Given the description of an element on the screen output the (x, y) to click on. 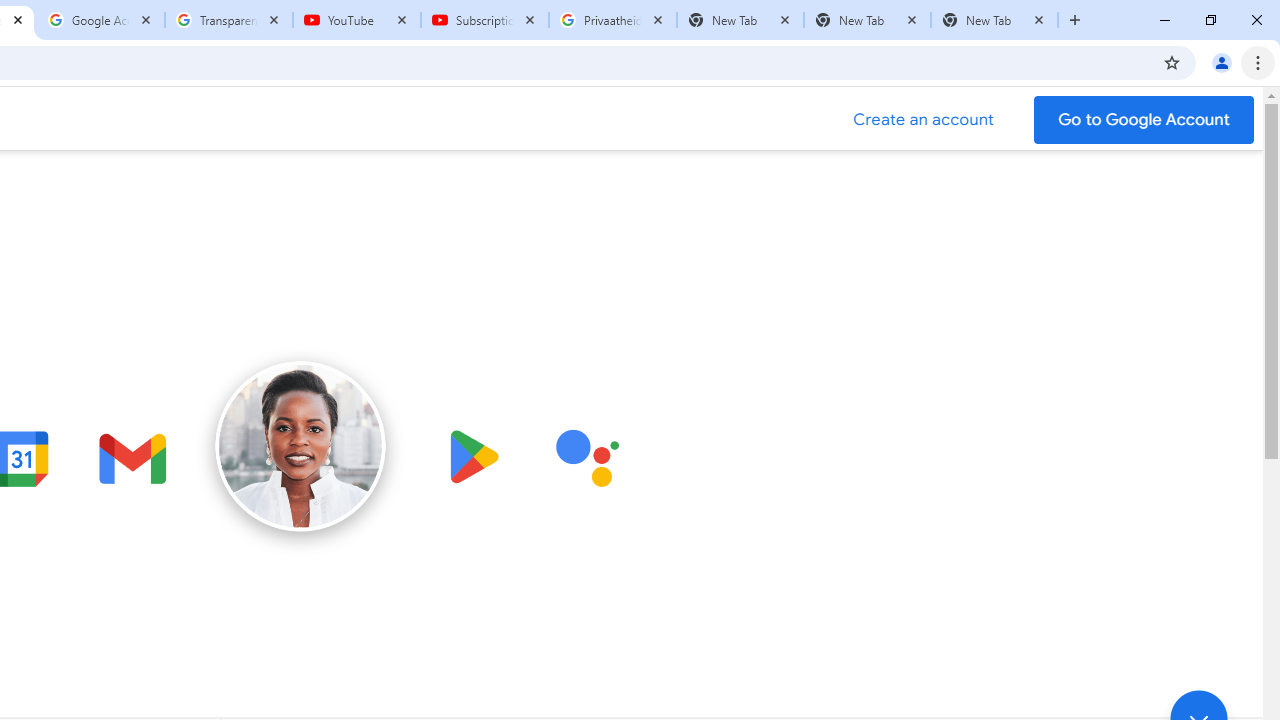
New Tab (994, 20)
YouTube (357, 20)
Go to your Google Account (1144, 119)
Google Account (101, 20)
Subscriptions - YouTube (485, 20)
Create a Google Account (923, 119)
